Given the description of an element on the screen output the (x, y) to click on. 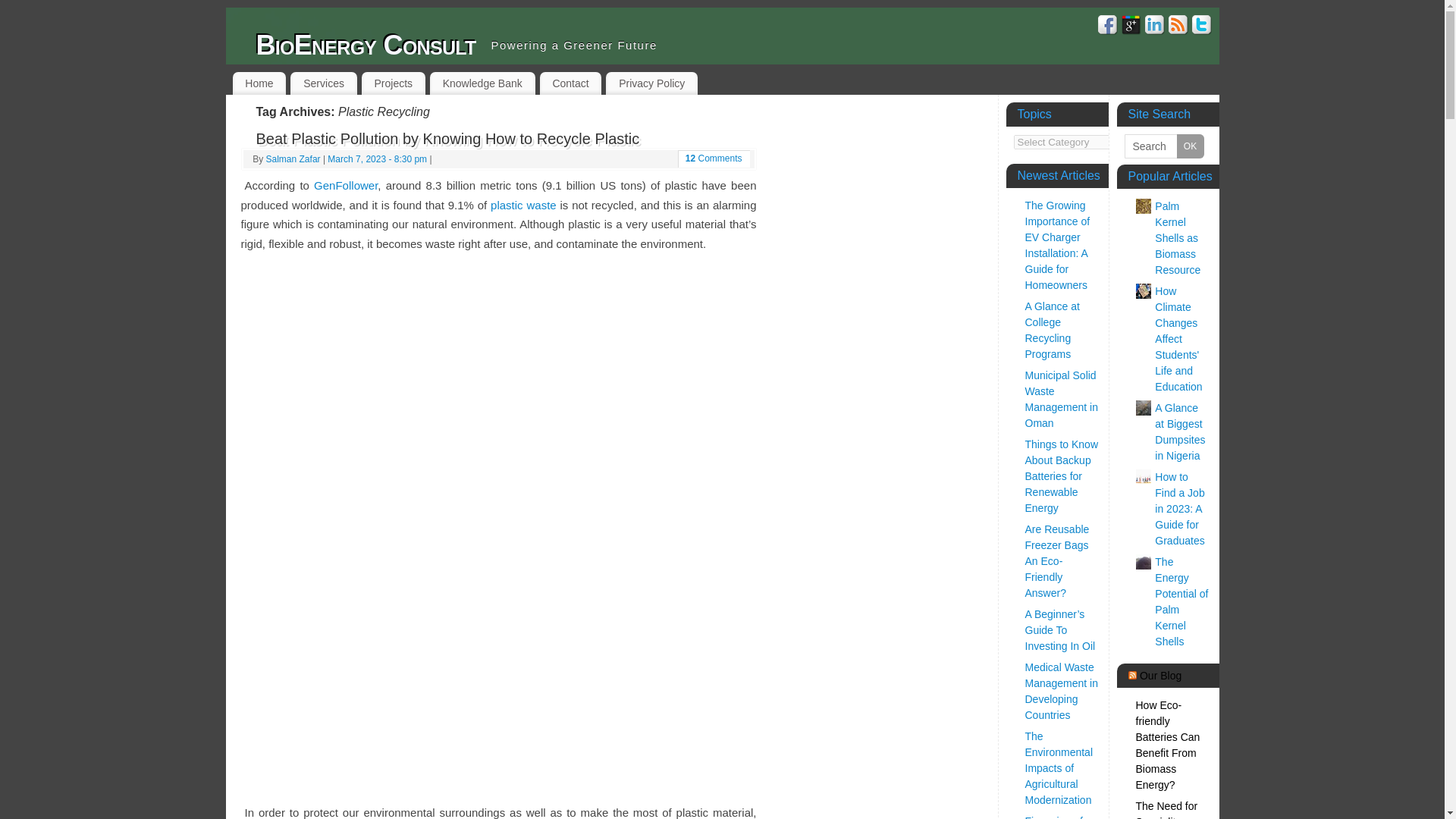
Contact (571, 83)
Services (322, 83)
Salman Zafar (293, 158)
12 Comments (713, 158)
8:30 pm (376, 158)
Search (1164, 146)
Home (258, 83)
Privacy Policy (651, 83)
OK (1190, 146)
